Given the description of an element on the screen output the (x, y) to click on. 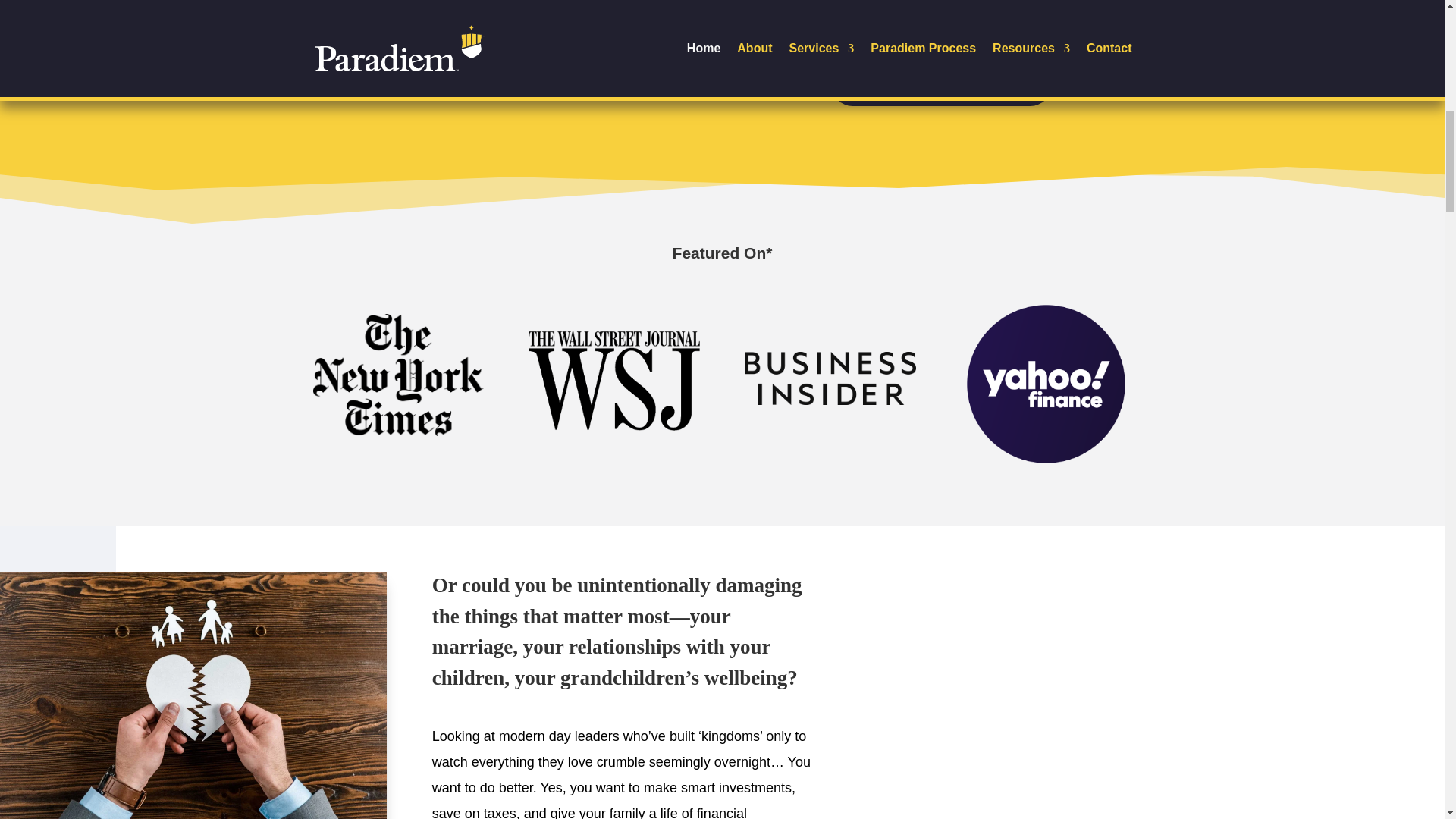
s.yimg (1045, 383)
Book A Free Consultation Now! (941, 84)
new-york-times-logo-white-png (398, 374)
Paradiem Documentary 2022 (549, 60)
unintentionally-damaging-the-things-that-matter-most (193, 695)
wsj-logo (613, 379)
